Given the description of an element on the screen output the (x, y) to click on. 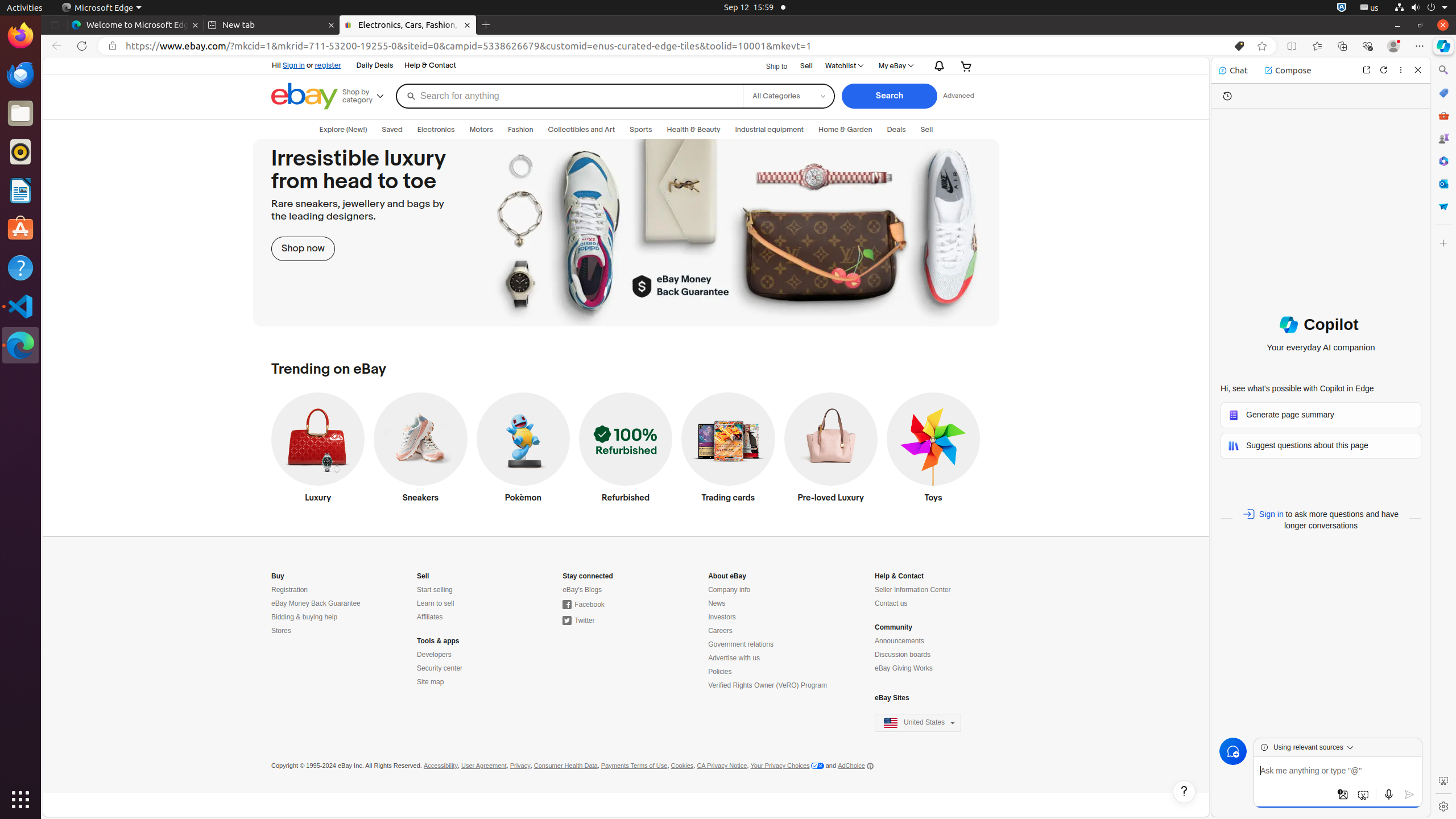
Electronics Element type: link (435, 129)
Irresistible luxury from head to toe Element type: link (626, 232)
Generate page summary Element type: radio-button (1320, 414)
Add this page to favorites (Ctrl+D) Element type: push-button (1261, 46)
AdChoice Element type: link (855, 766)
